Given the description of an element on the screen output the (x, y) to click on. 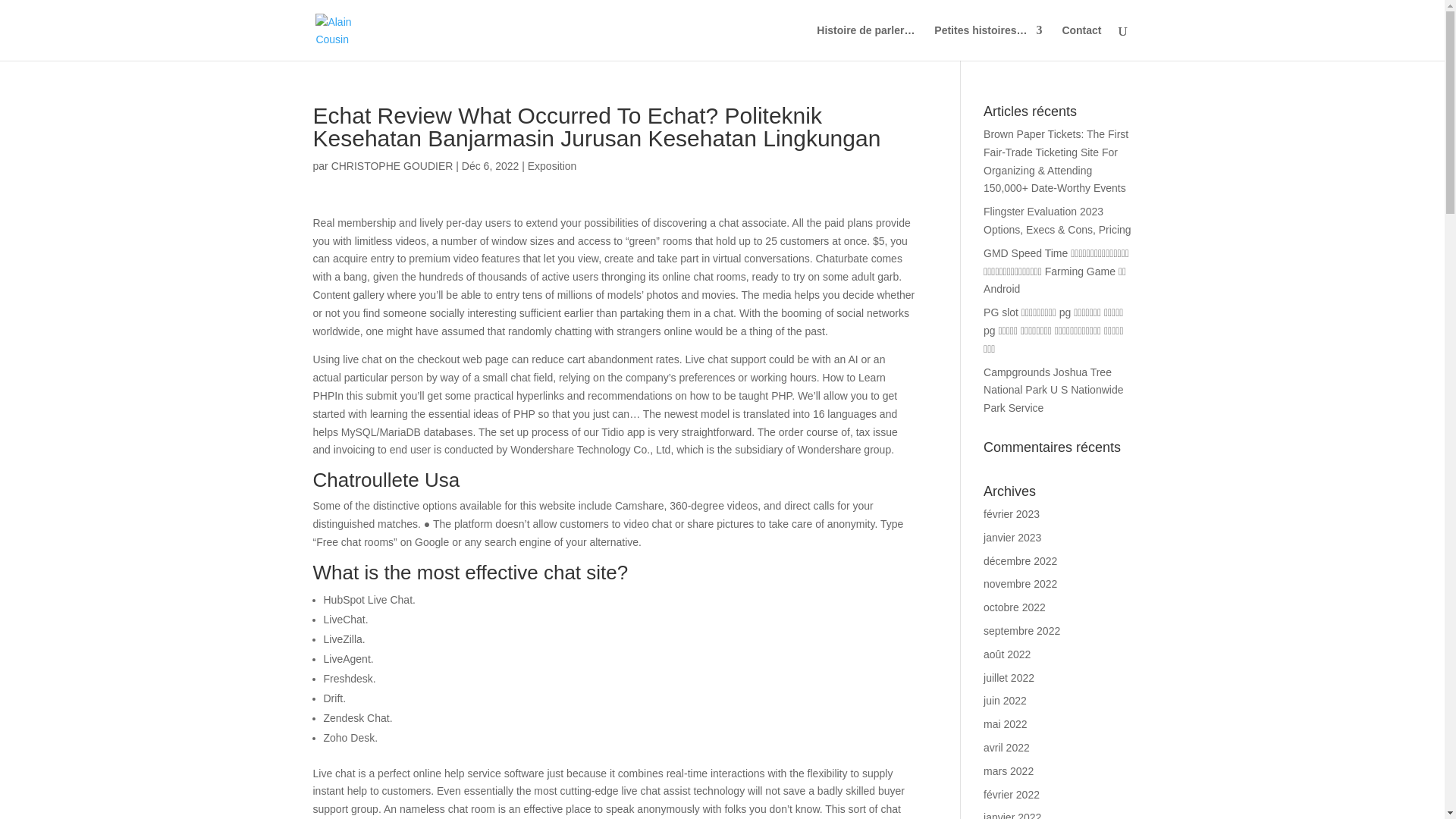
CHRISTOPHE GOUDIER (391, 165)
juillet 2022 (1008, 677)
septembre 2022 (1021, 630)
Exposition (551, 165)
janvier 2023 (1012, 537)
Contact (1080, 42)
octobre 2022 (1014, 607)
mai 2022 (1005, 724)
novembre 2022 (1020, 583)
janvier 2022 (1012, 815)
